Given the description of an element on the screen output the (x, y) to click on. 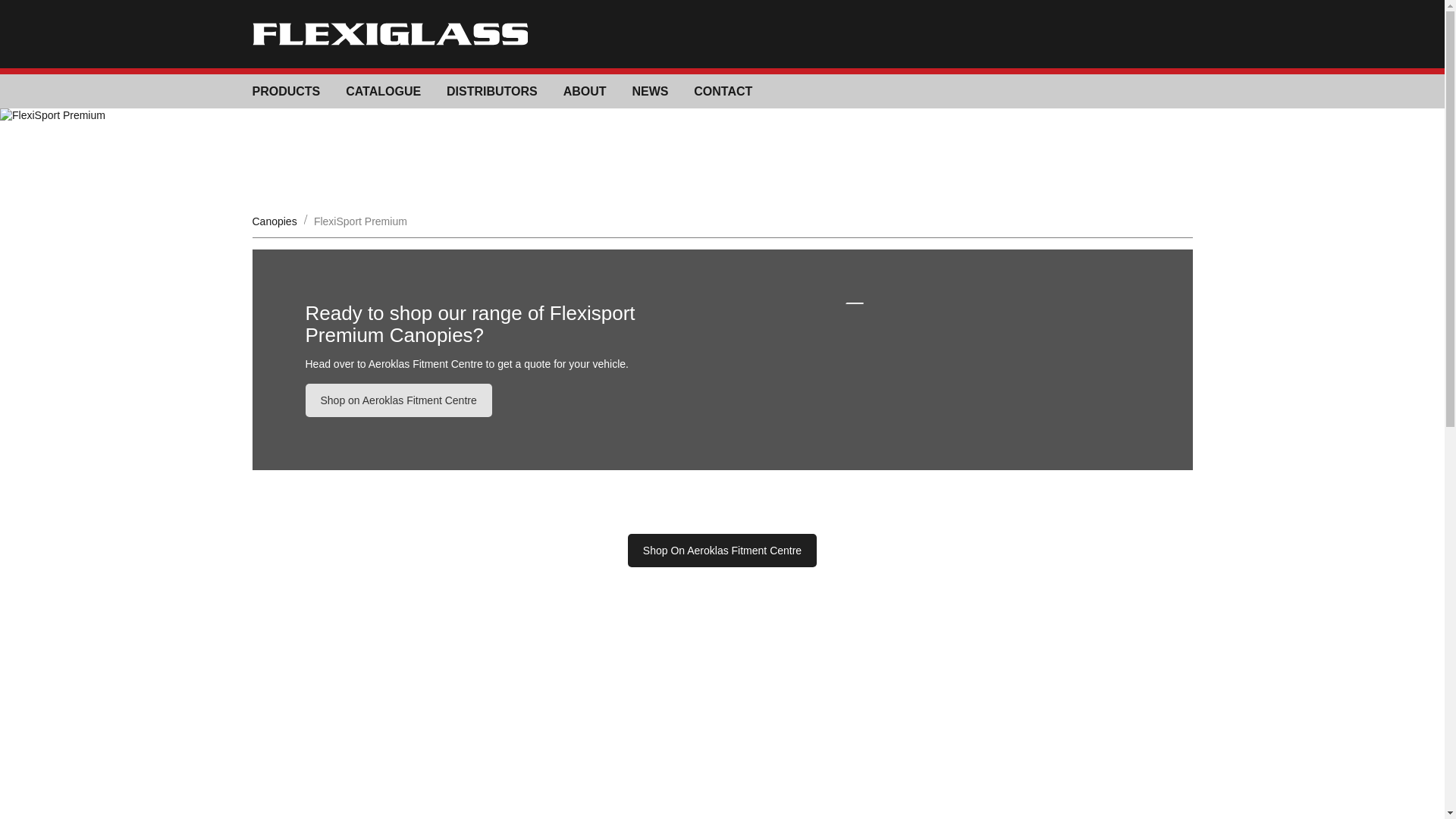
Flexisport Premium (398, 400)
ABOUT (585, 91)
Flexiglass (389, 33)
DISTRIBUTORS (491, 91)
CATALOGUE (383, 91)
PRODUCTS (285, 91)
